Given the description of an element on the screen output the (x, y) to click on. 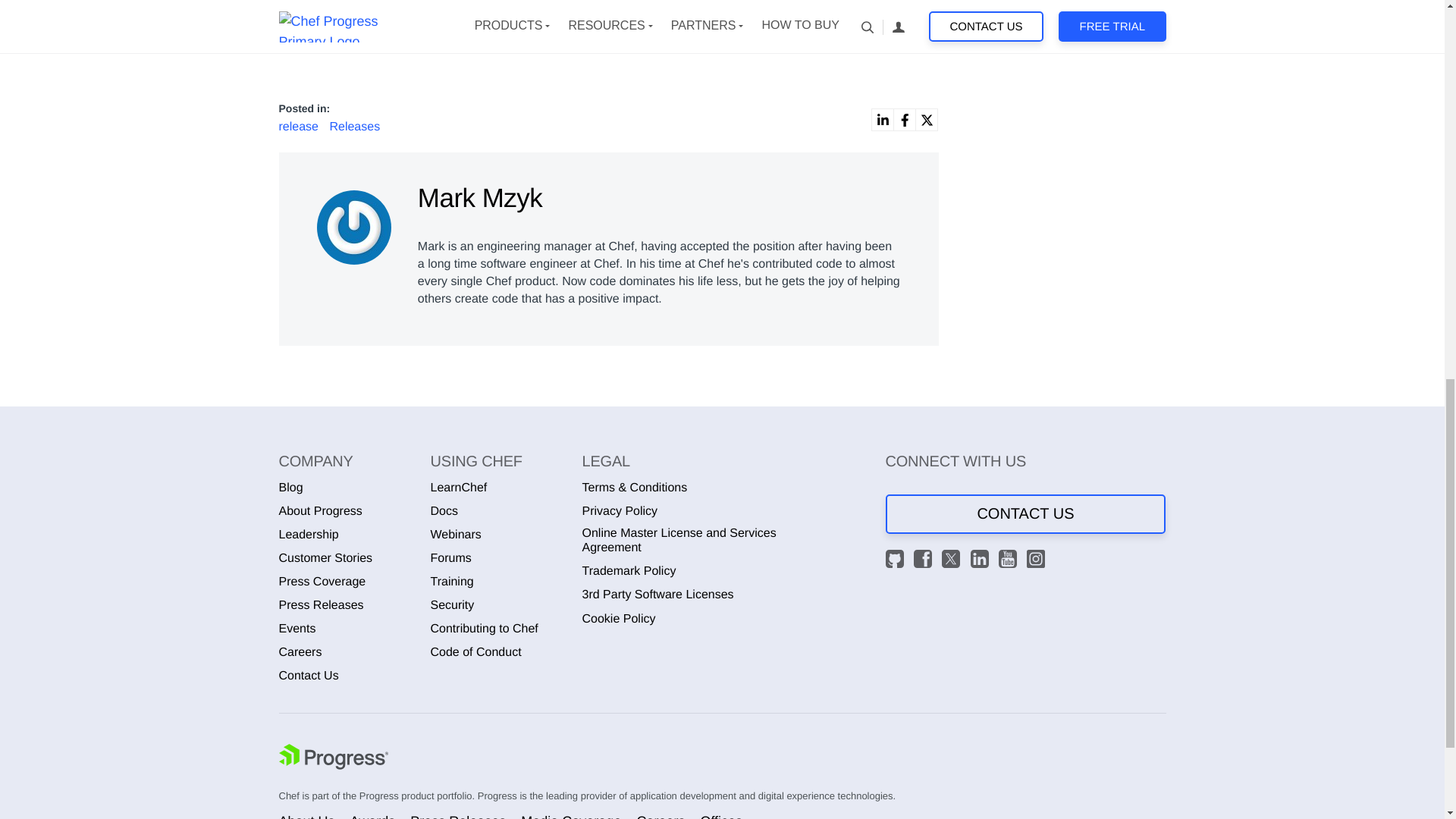
Releases (354, 126)
Mark Mzyk (355, 223)
release (300, 126)
Avatar (354, 227)
Progress-logo (333, 758)
